Given the description of an element on the screen output the (x, y) to click on. 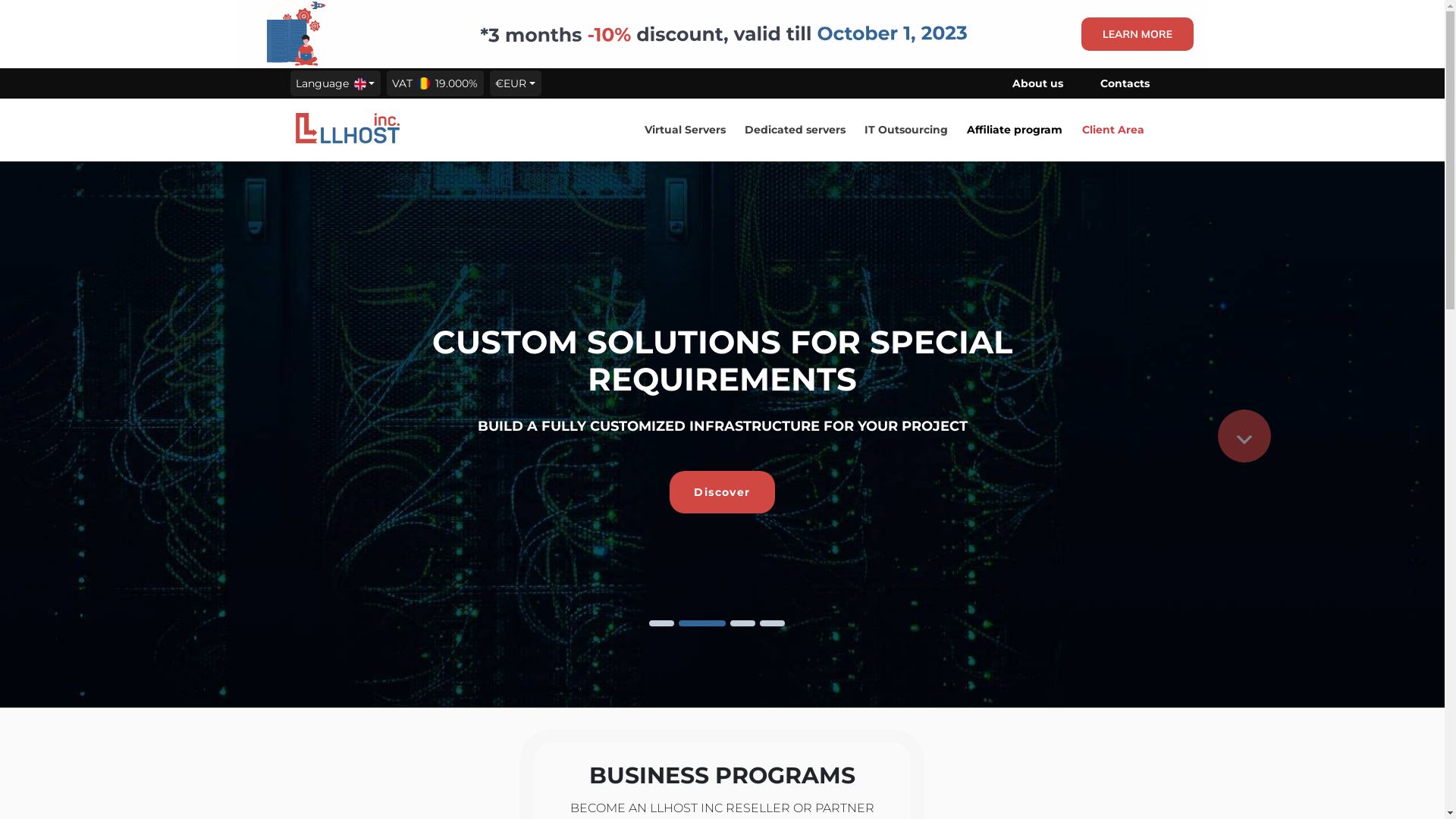
View Plans Element type: text (722, 466)
Dedicated servers Element type: text (794, 129)
Virtual Servers Element type: text (685, 129)
Affiliate program Element type: text (1014, 129)
VAT
19.000% Element type: text (434, 83)
Language Element type: text (334, 83)
IT Outsourcing Element type: text (906, 129)
About us Element type: text (1037, 83)
Client Area Element type: text (1112, 129)
Contacts Element type: text (1124, 83)
